Given the description of an element on the screen output the (x, y) to click on. 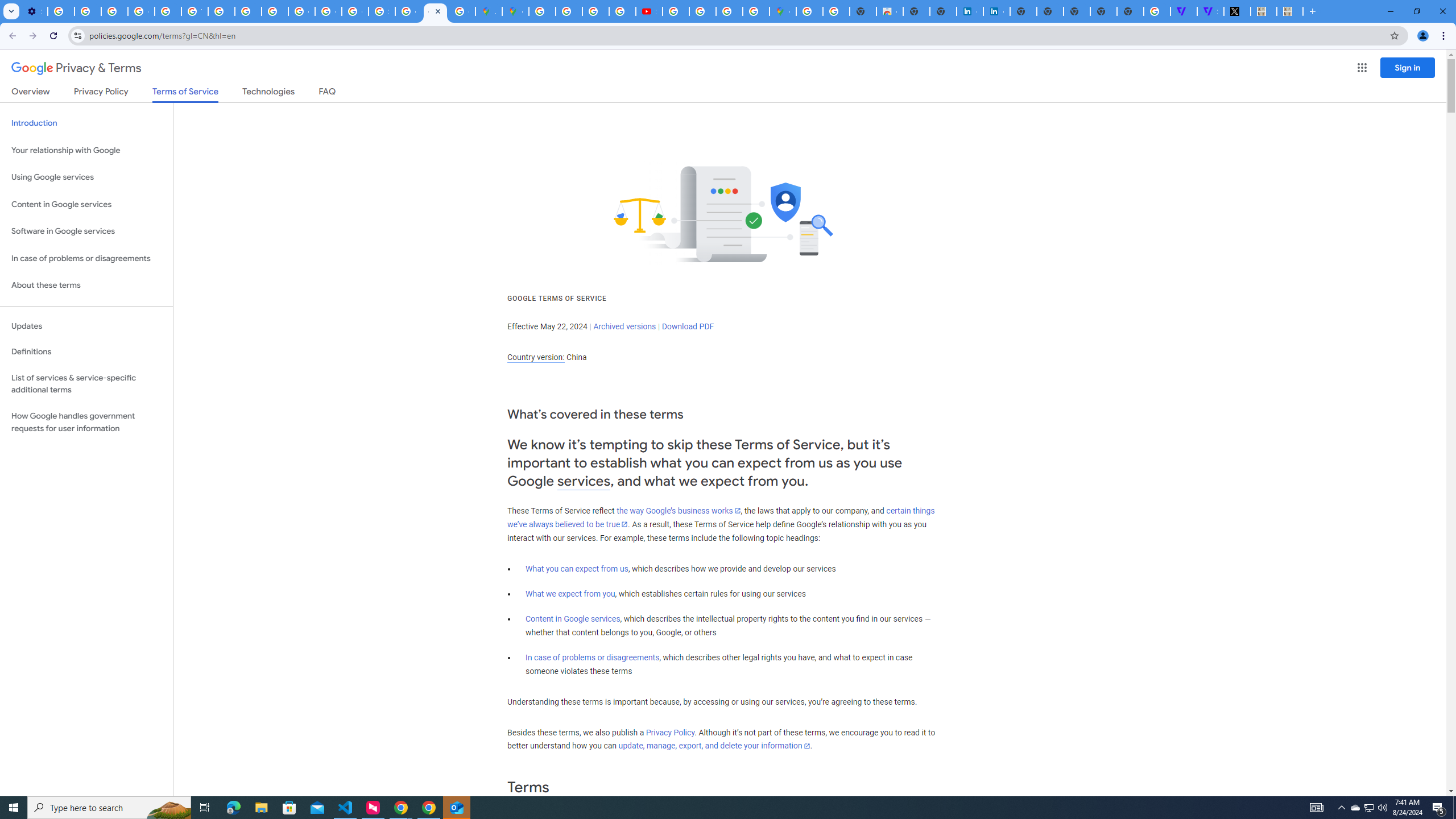
Definitions (86, 352)
About these terms (86, 284)
update, manage, export, and delete your information (714, 746)
How Chrome protects your passwords - Google Chrome Help (676, 11)
Cookie Policy | LinkedIn (970, 11)
Using Google services (86, 176)
Settings - Customize profile (34, 11)
https://scholar.google.com/ (221, 11)
Privacy Help Center - Policies Help (167, 11)
What we expect from you (570, 593)
